Given the description of an element on the screen output the (x, y) to click on. 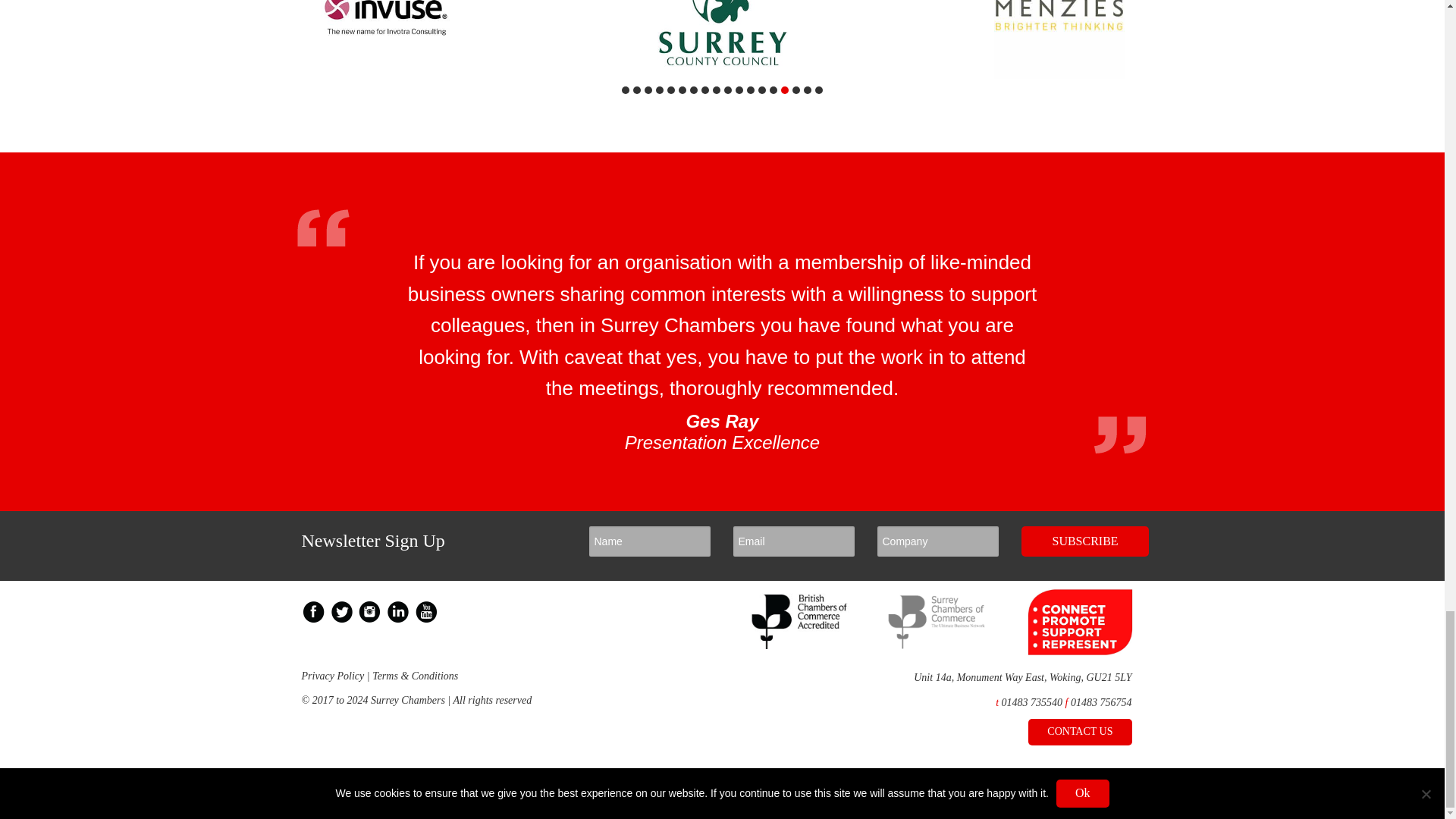
Surrey Chambers (937, 645)
SUBSCRIBE (1085, 541)
BCC Accredited (801, 645)
